Given the description of an element on the screen output the (x, y) to click on. 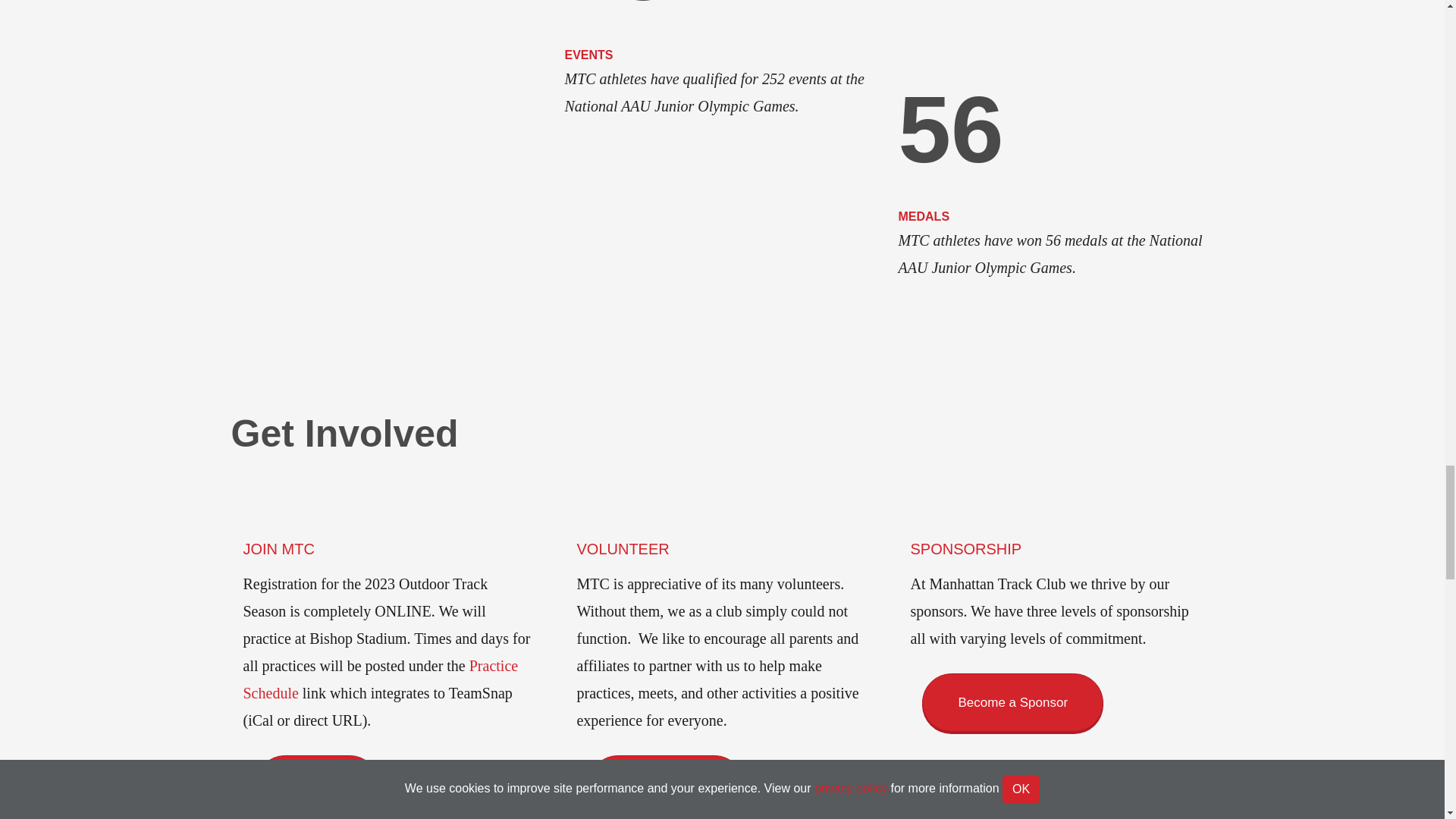
Practice Schedule (380, 679)
Practice Schedule (380, 679)
Join Now (316, 784)
